Given the description of an element on the screen output the (x, y) to click on. 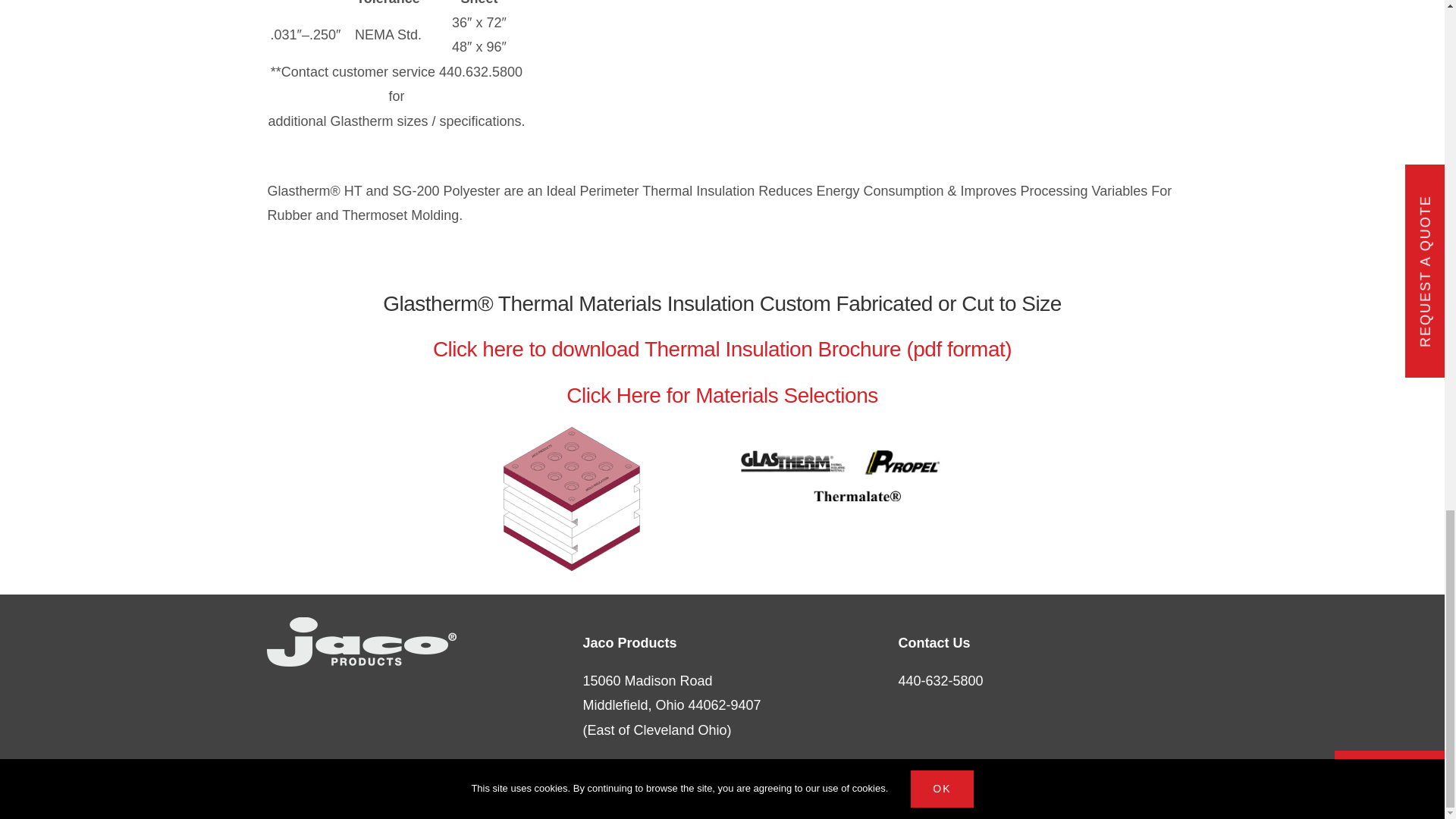
Click Here for Materials Selections (721, 395)
insulation (839, 475)
15060 Madison Road (646, 680)
Middlefield, Ohio 44062-9407 (671, 704)
